Given the description of an element on the screen output the (x, y) to click on. 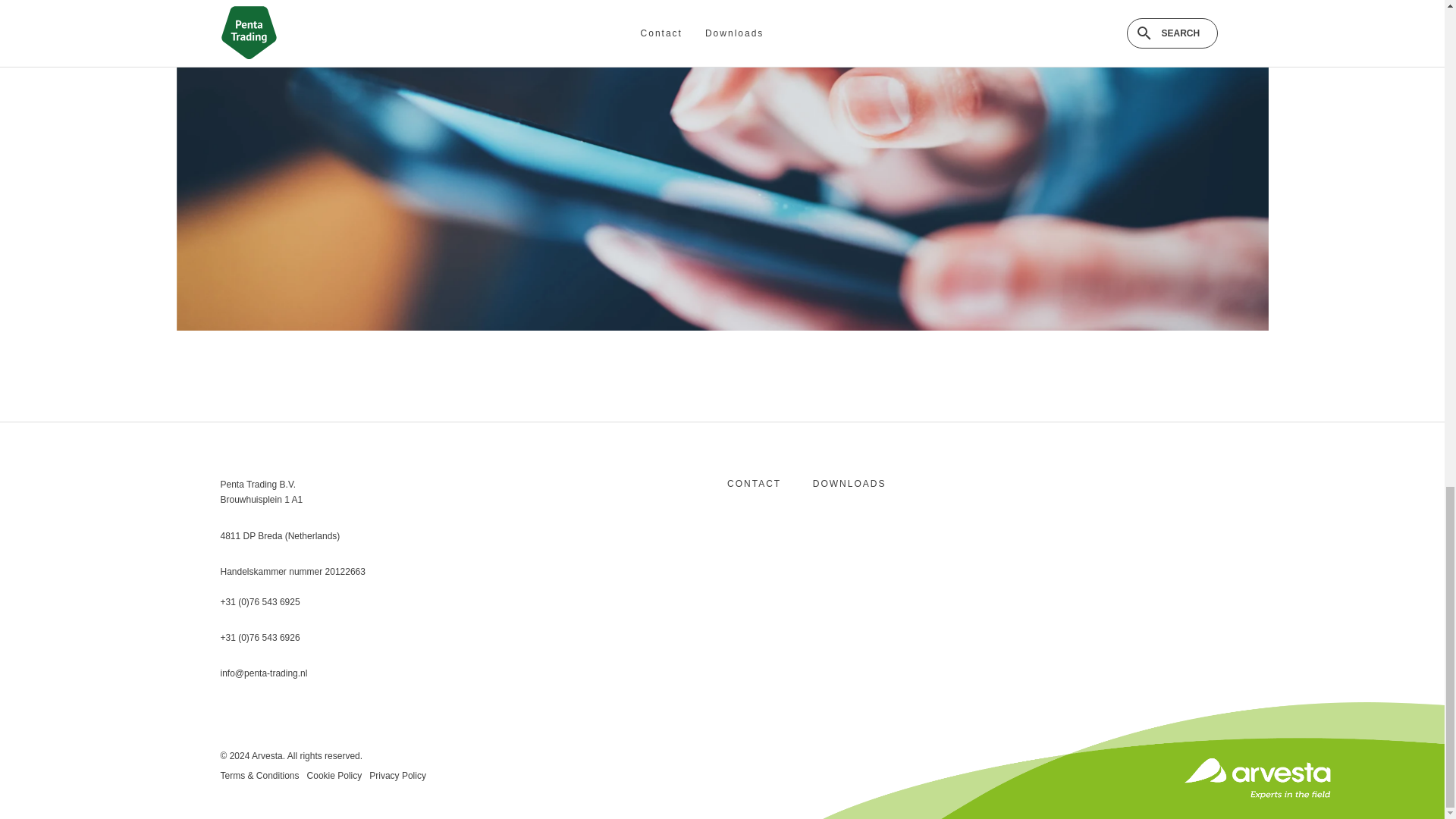
Privacy Policy (397, 775)
CONTACT (753, 483)
DOWNLOADS (849, 483)
Cookie Policy (334, 775)
